Given the description of an element on the screen output the (x, y) to click on. 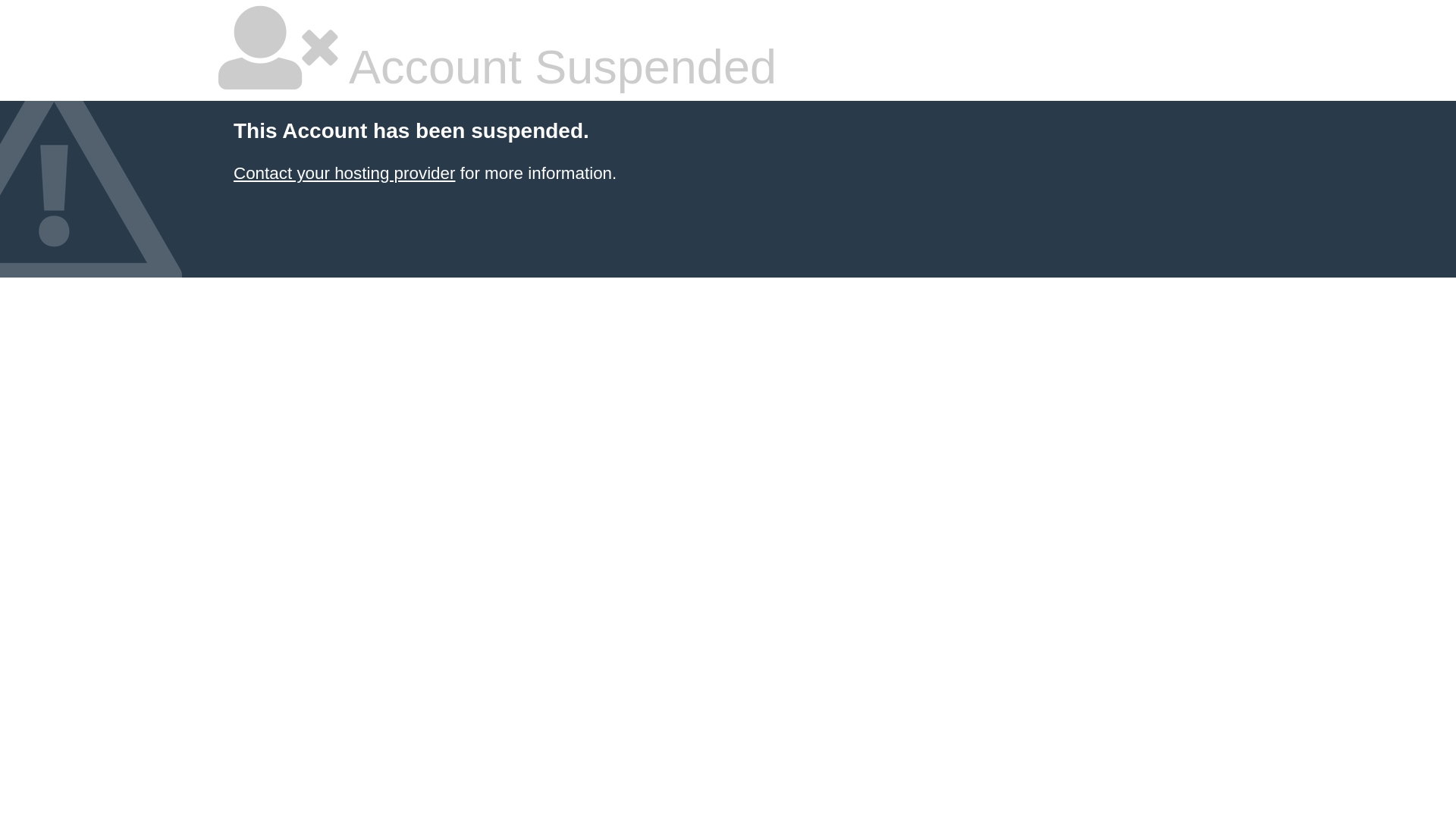
Contact your hosting provider Element type: text (344, 172)
